Given the description of an element on the screen output the (x, y) to click on. 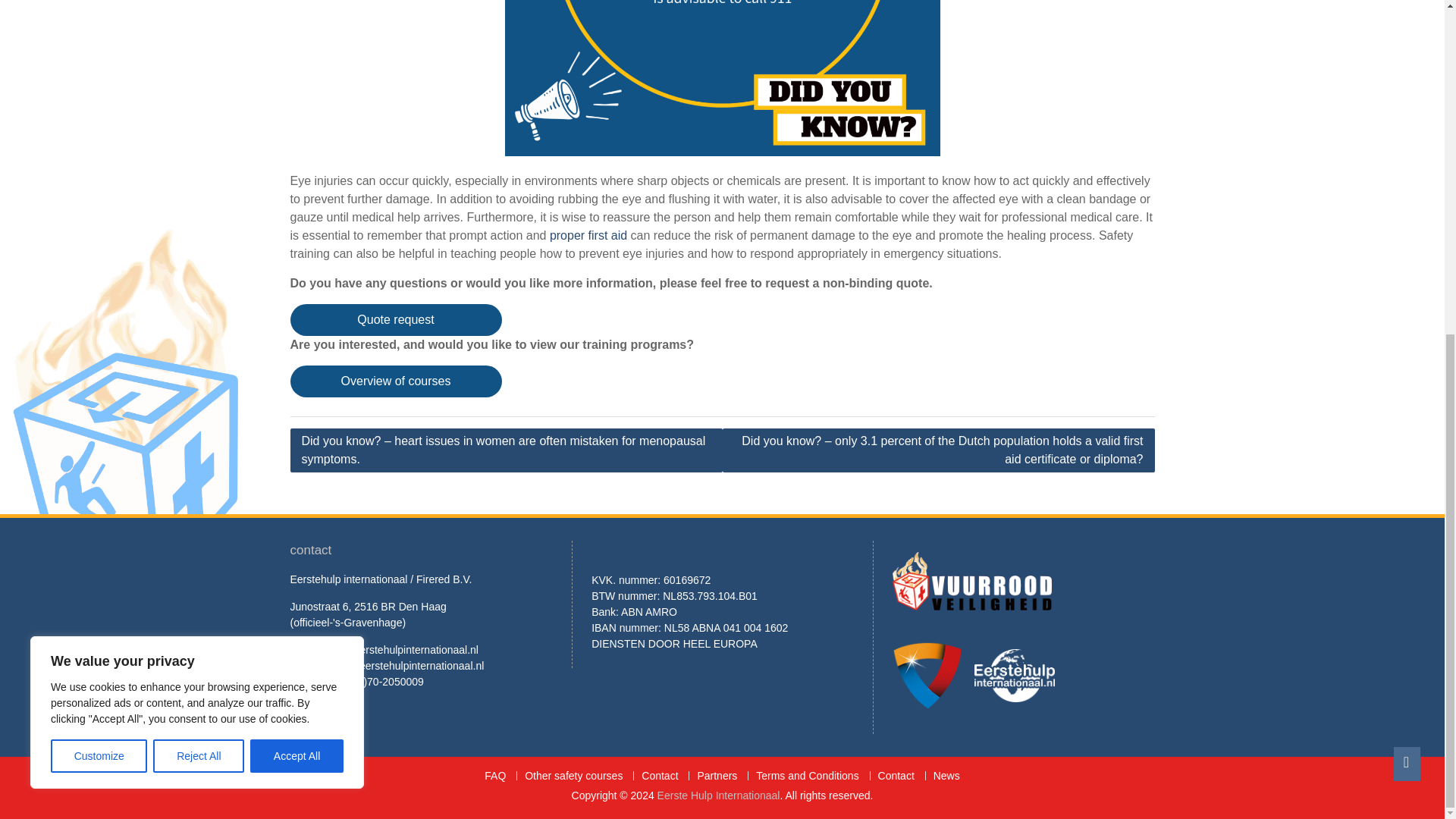
Customize (98, 196)
Accept All (296, 196)
Reject All (198, 196)
